Given the description of an element on the screen output the (x, y) to click on. 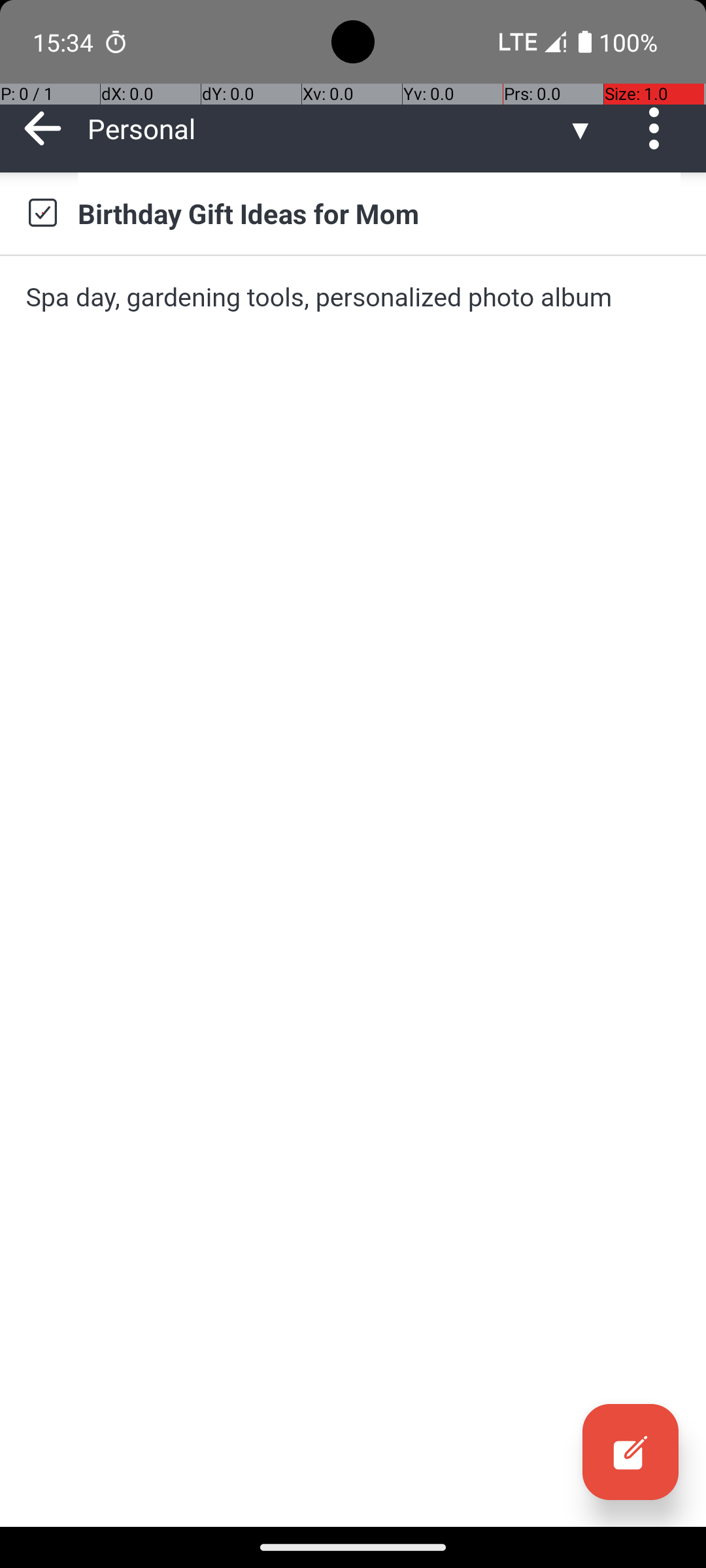
Birthday Gift Ideas for Mom Element type: android.widget.EditText (378, 213)
Spa day, gardening tools, personalized photo album Element type: android.widget.TextView (352, 296)
